Given the description of an element on the screen output the (x, y) to click on. 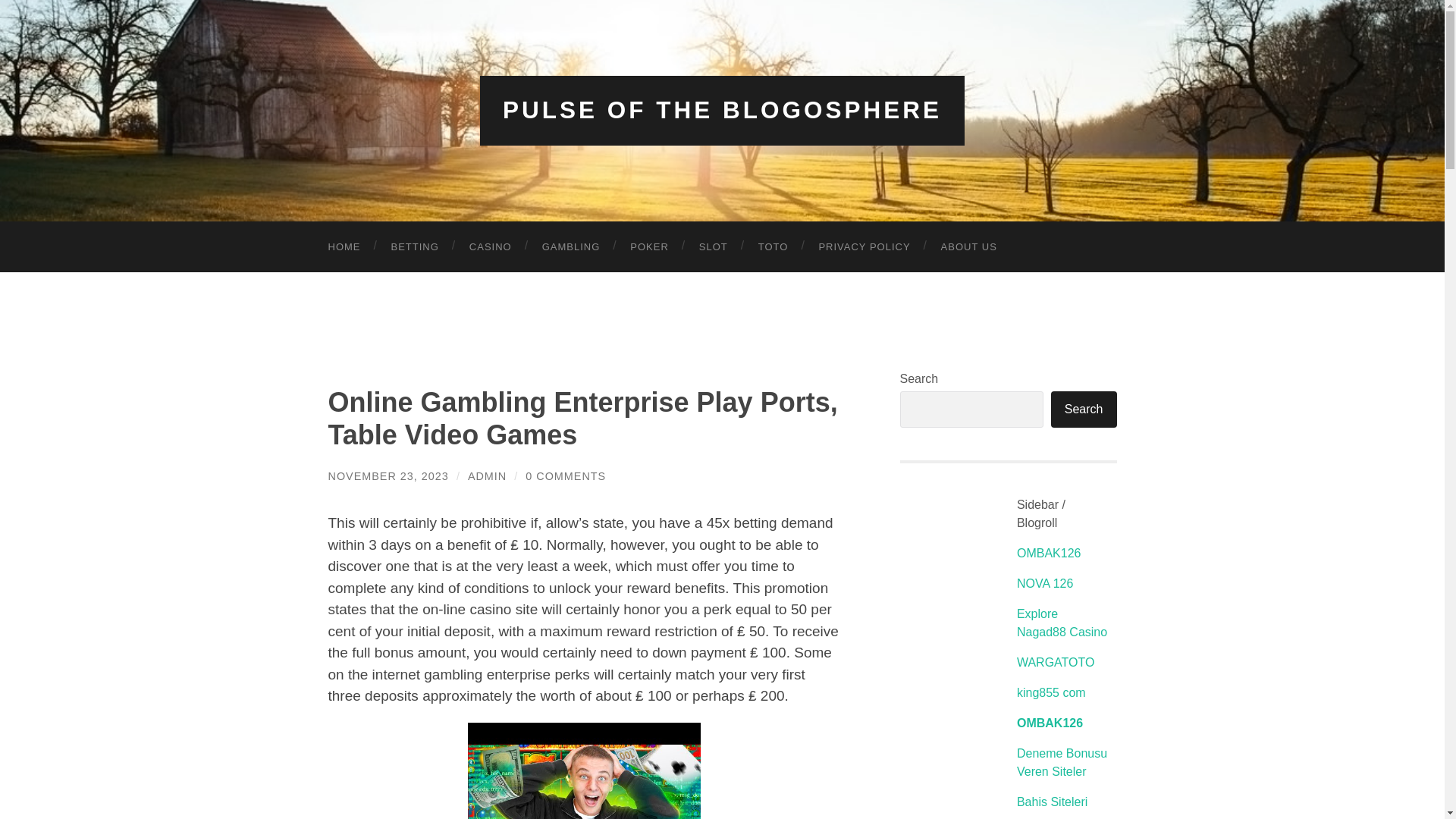
Posts by admin (486, 476)
WARGATOTO (1055, 662)
POKER (649, 246)
OMBAK126 (1048, 553)
king855 com (1051, 692)
Search (1083, 409)
ABOUT US (968, 246)
GAMBLING (571, 246)
CASINO (490, 246)
Explore Nagad88 Casino (1061, 622)
0 COMMENTS (565, 476)
BETTING (414, 246)
SLOT (713, 246)
HOME (344, 246)
NOVA 126 (1044, 583)
